Given the description of an element on the screen output the (x, y) to click on. 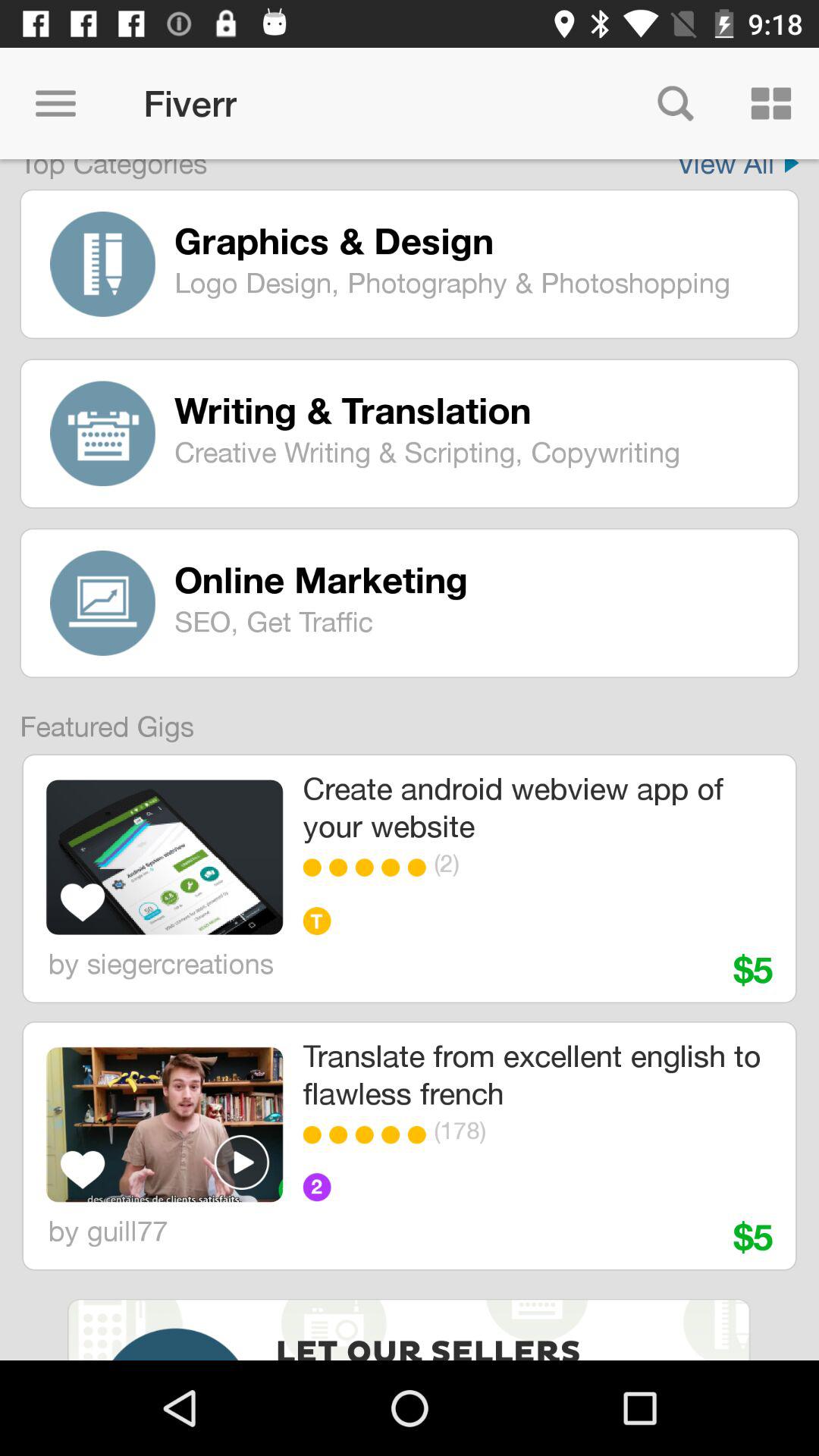
open icon above writing & translation icon (475, 282)
